Given the description of an element on the screen output the (x, y) to click on. 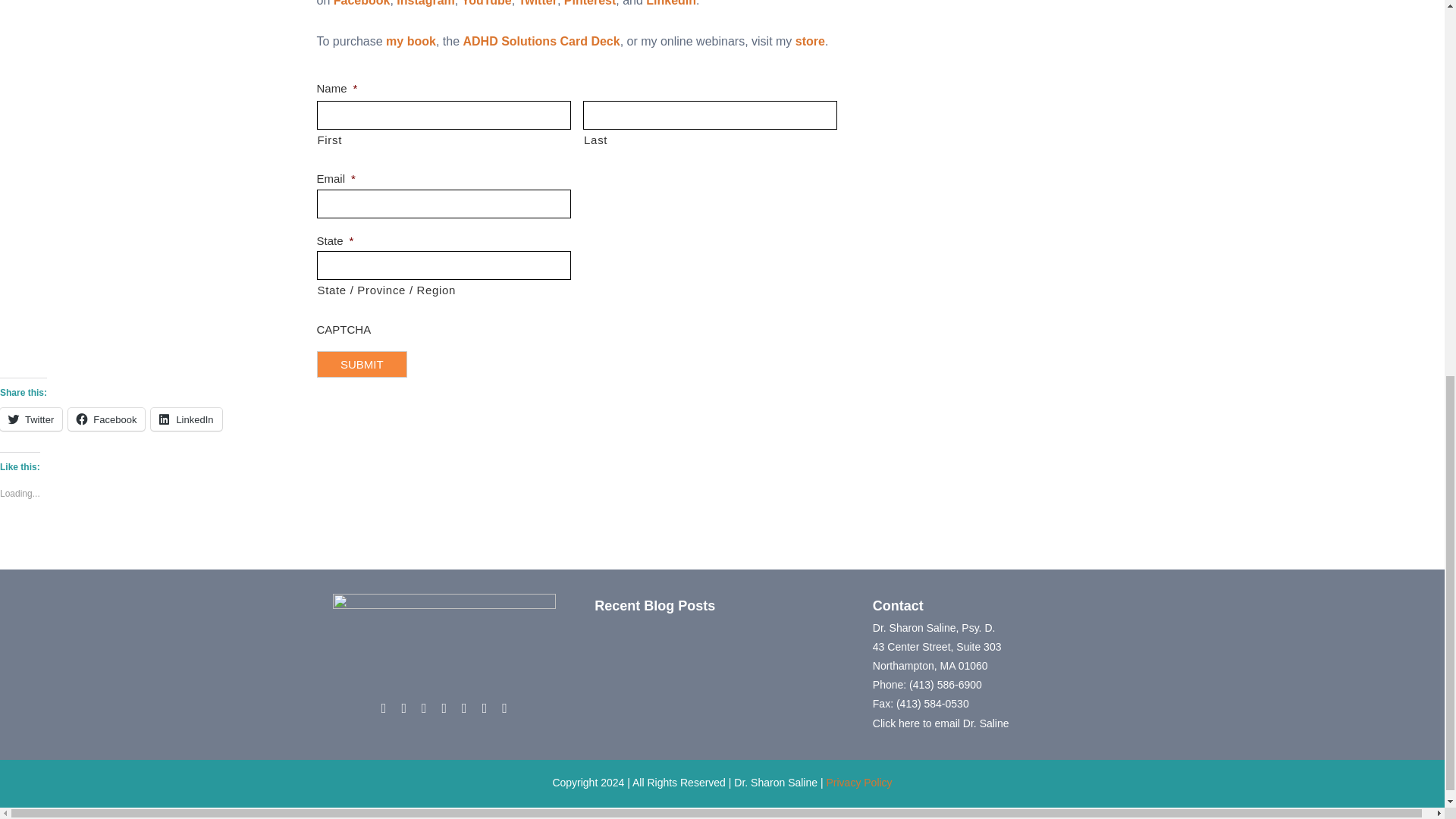
Pinterest (589, 3)
Click to share on LinkedIn (186, 418)
footer-logo (444, 631)
Instagram (425, 3)
YouTube (486, 3)
Submit (362, 364)
Twitter (537, 3)
Facebook (361, 3)
LinkedIn (670, 3)
Click to share on Facebook (106, 418)
